Given the description of an element on the screen output the (x, y) to click on. 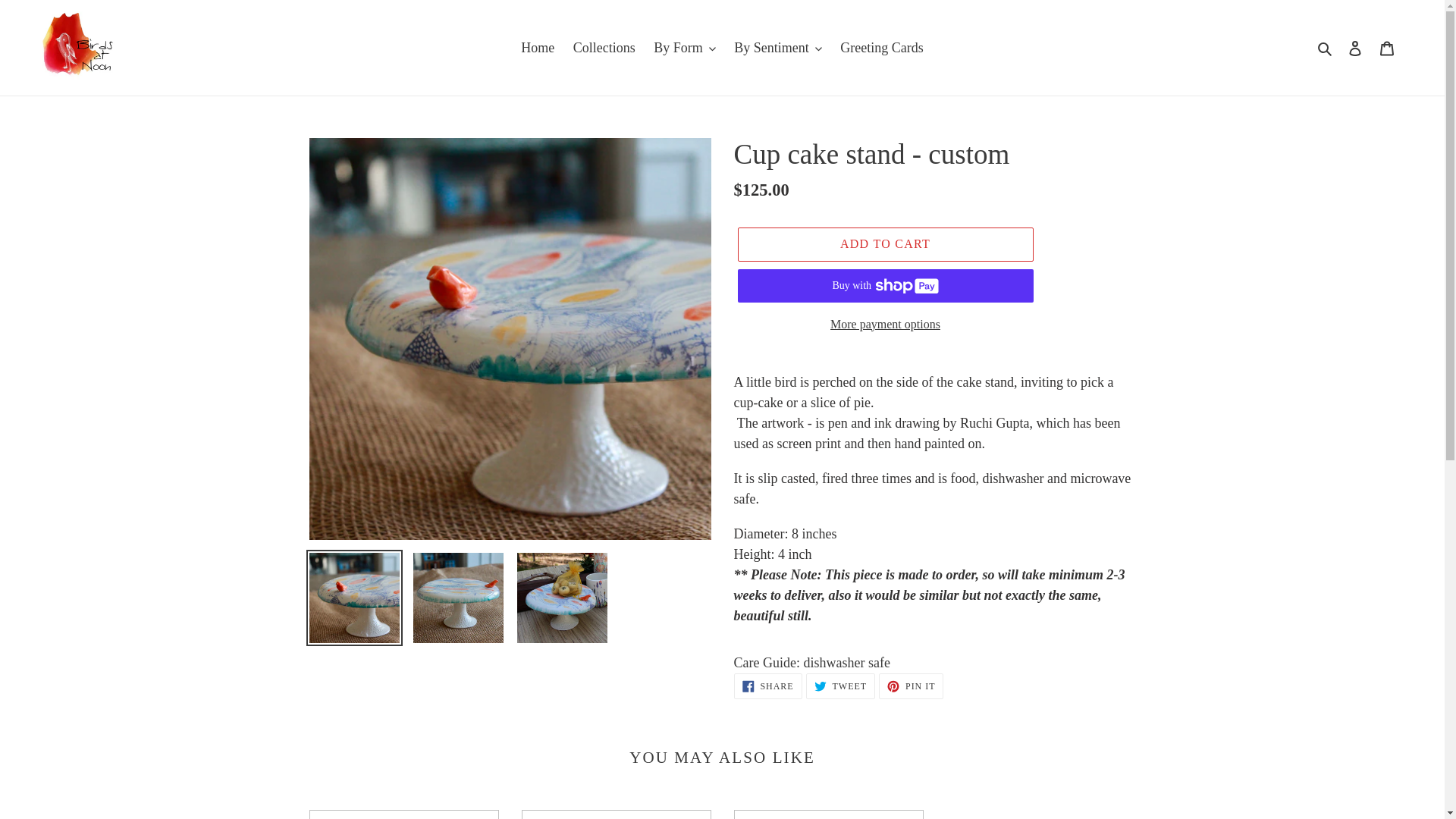
Collections (604, 47)
By Form (684, 47)
Cart (1387, 48)
Home (537, 47)
Log in (1355, 48)
By Sentiment (777, 47)
Greeting Cards (881, 47)
Search (1326, 47)
